Given the description of an element on the screen output the (x, y) to click on. 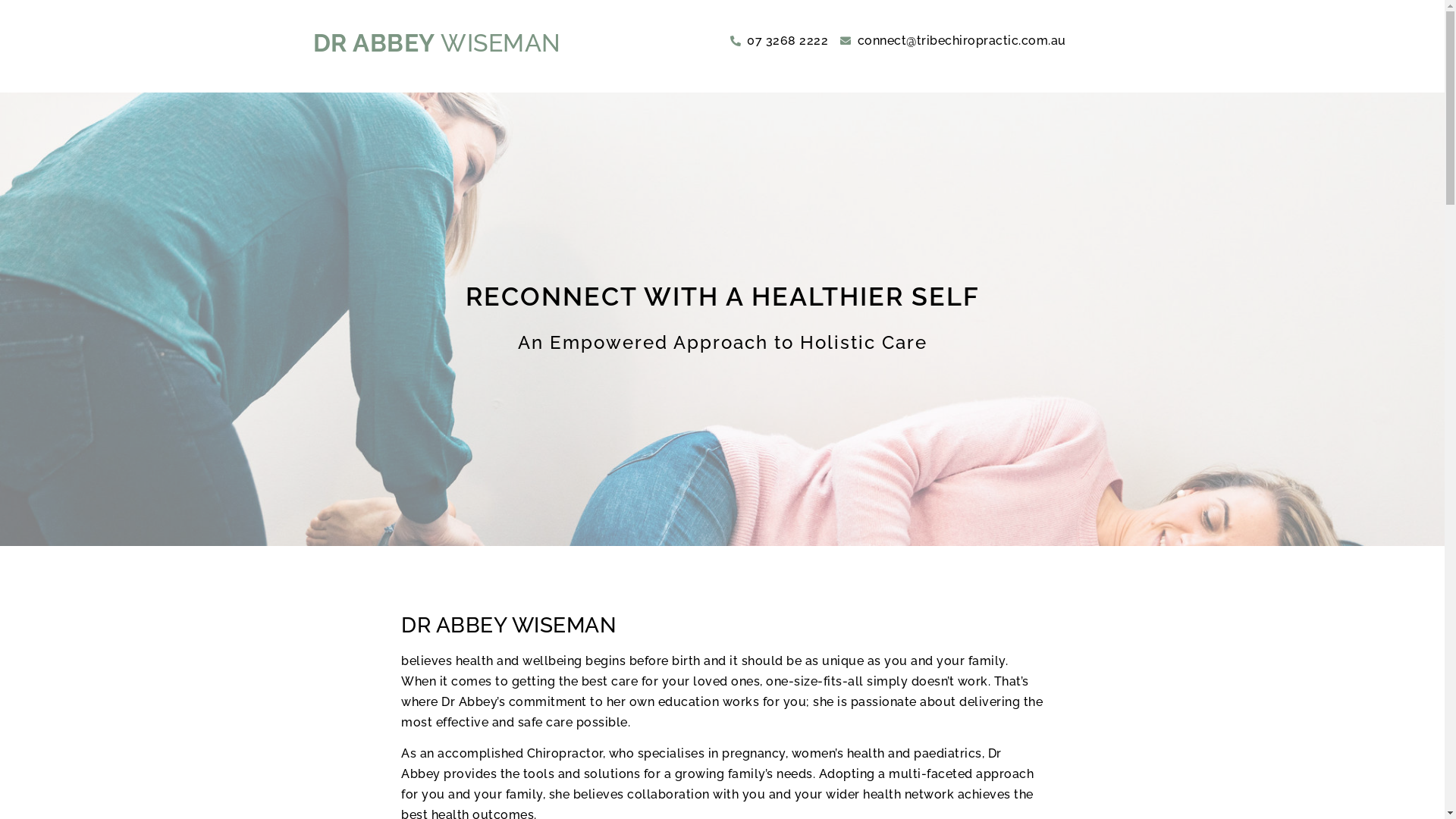
connect@tribechiropractic.com.au Element type: text (953, 40)
07 3268 2222 Element type: text (778, 40)
